Given the description of an element on the screen output the (x, y) to click on. 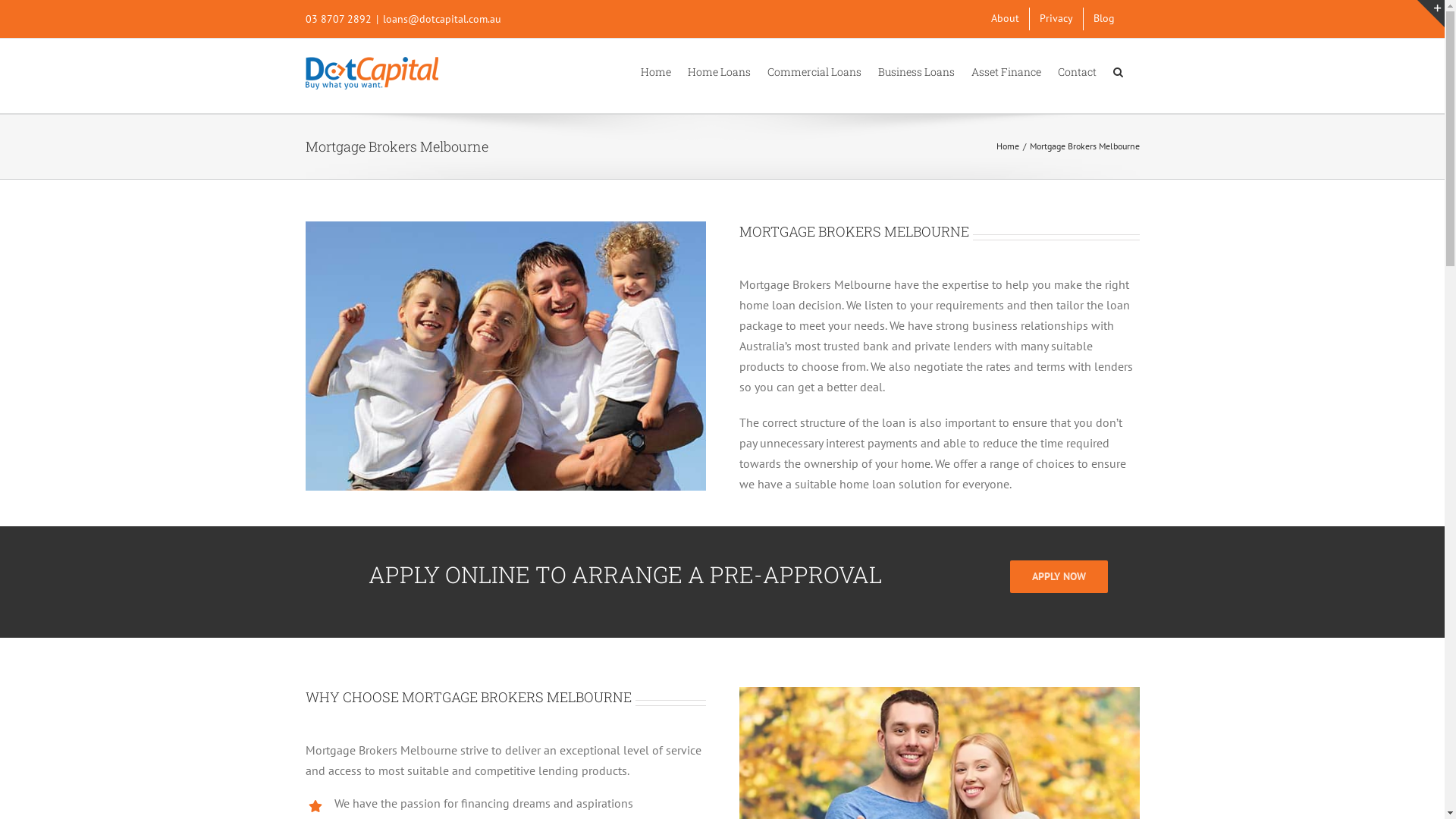
loans@dotcapital.com.au Element type: text (441, 18)
Search Element type: hover (1118, 70)
APPLY NOW Element type: text (1058, 576)
Privacy Element type: text (1055, 18)
Home Loans Element type: text (718, 70)
Asset Finance Element type: text (1005, 70)
Contact Element type: text (1076, 70)
Toggle Sliding Bar Area Element type: text (1430, 13)
Mortgage Brokers Melbourne Element type: hover (504, 355)
Home Element type: text (1007, 145)
Commercial Loans Element type: text (814, 70)
Home Element type: text (655, 70)
Blog Element type: text (1102, 18)
Business Loans Element type: text (916, 70)
03 8707 2892 Element type: text (337, 18)
About Element type: text (1005, 18)
